Given the description of an element on the screen output the (x, y) to click on. 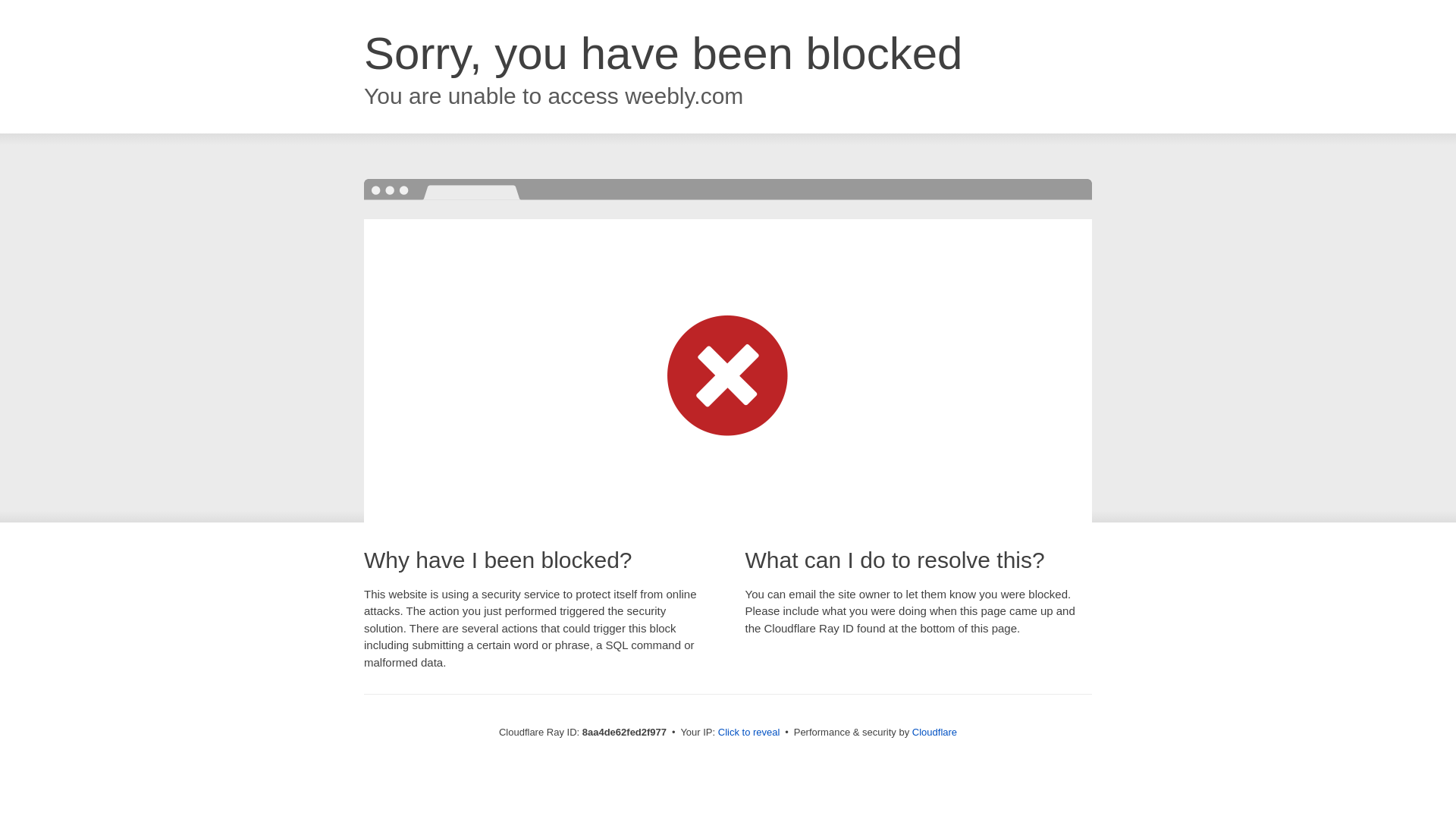
Click to reveal (748, 732)
Cloudflare (934, 731)
